Given the description of an element on the screen output the (x, y) to click on. 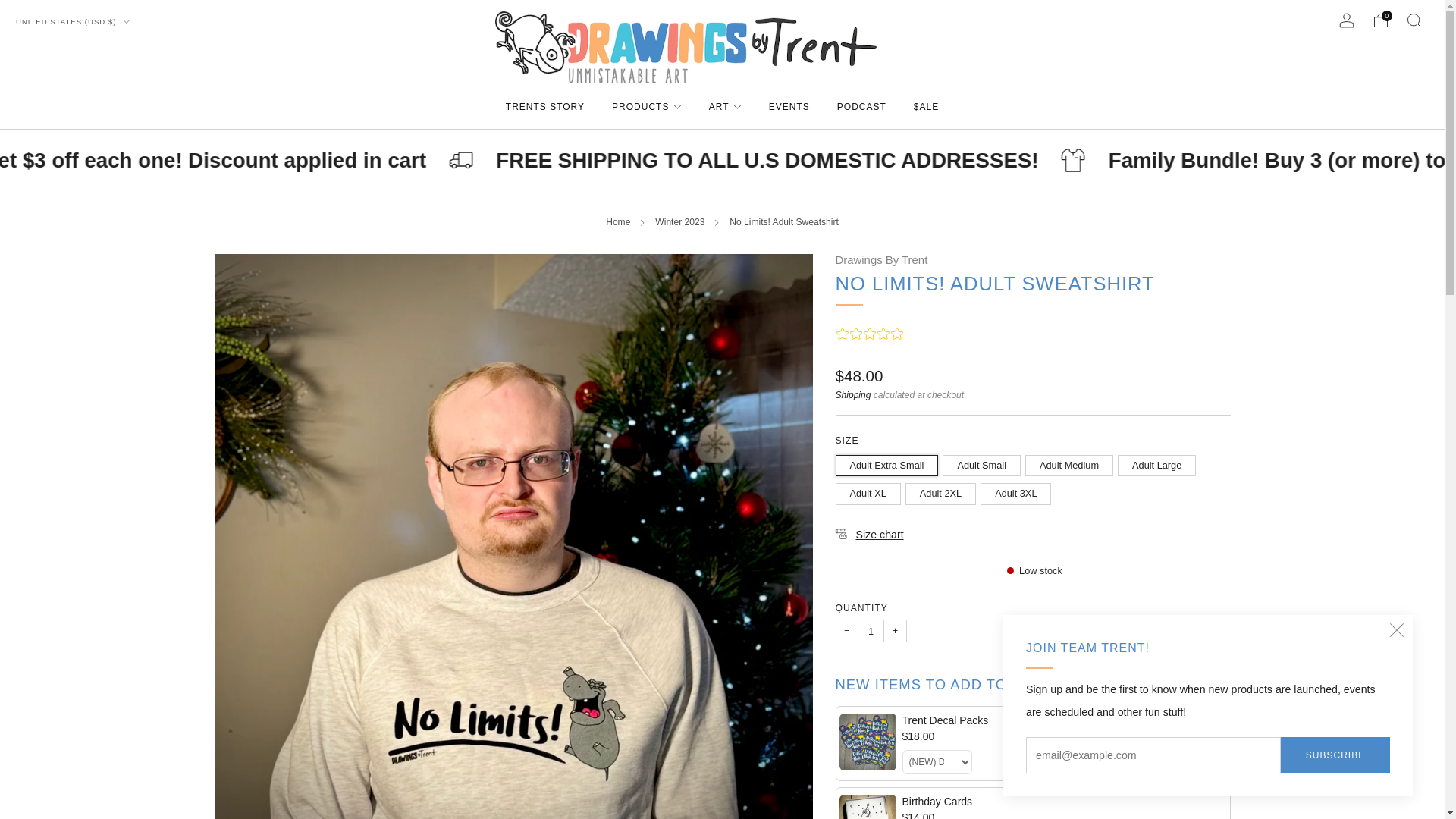
Adult 3XL (1017, 489)
PRODUCTS (646, 106)
FREE SHIPPING TO ALL U.S DOMESTIC ADDRESSES! (845, 160)
Adult Small (983, 461)
Home (617, 222)
Adult 2XL (942, 489)
1 (871, 630)
TRENTS STORY (545, 106)
PODCAST (861, 106)
Adult Large (1158, 461)
Adult Extra Small (889, 461)
